Given the description of an element on the screen output the (x, y) to click on. 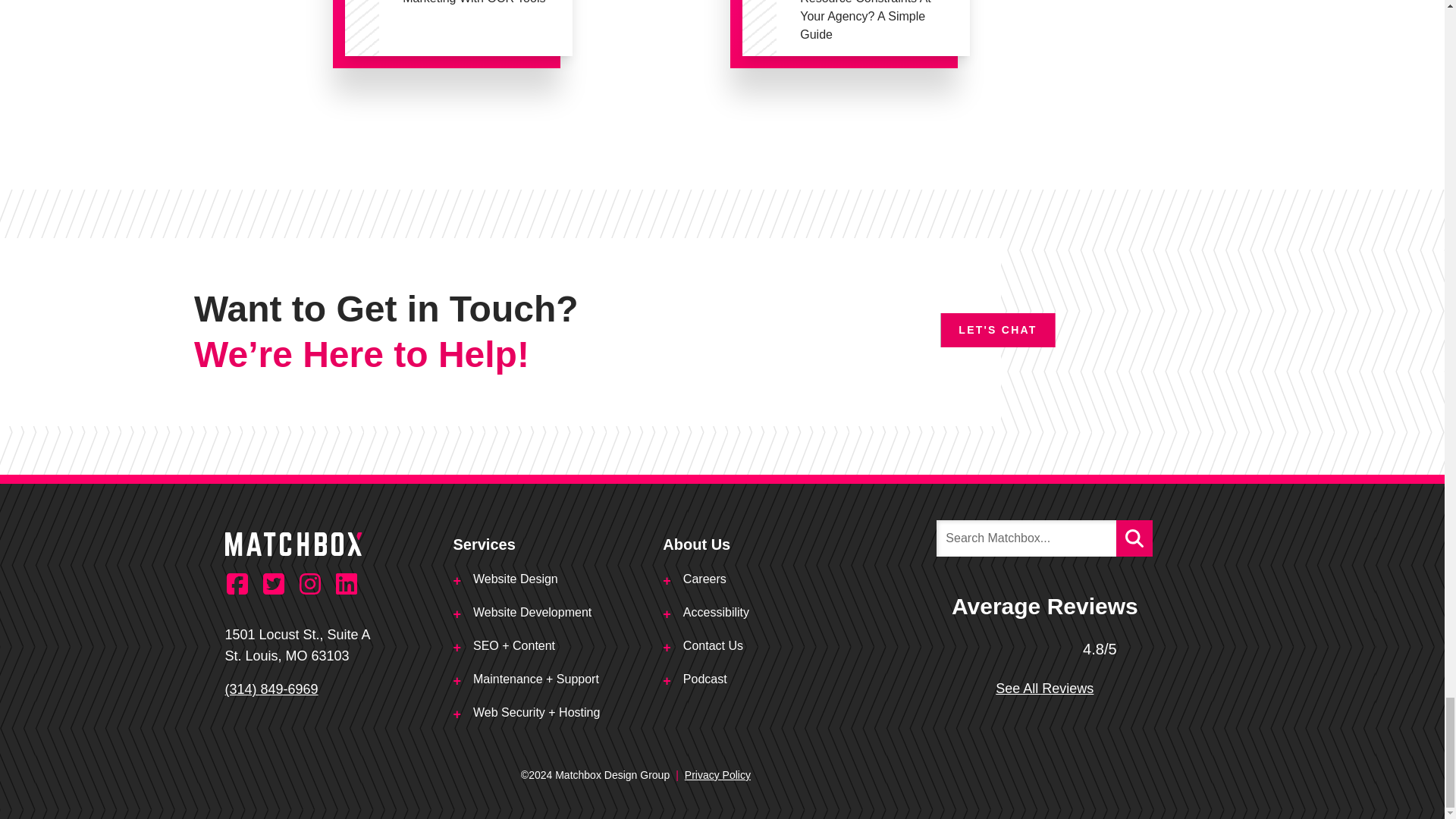
Search (1134, 538)
